Given the description of an element on the screen output the (x, y) to click on. 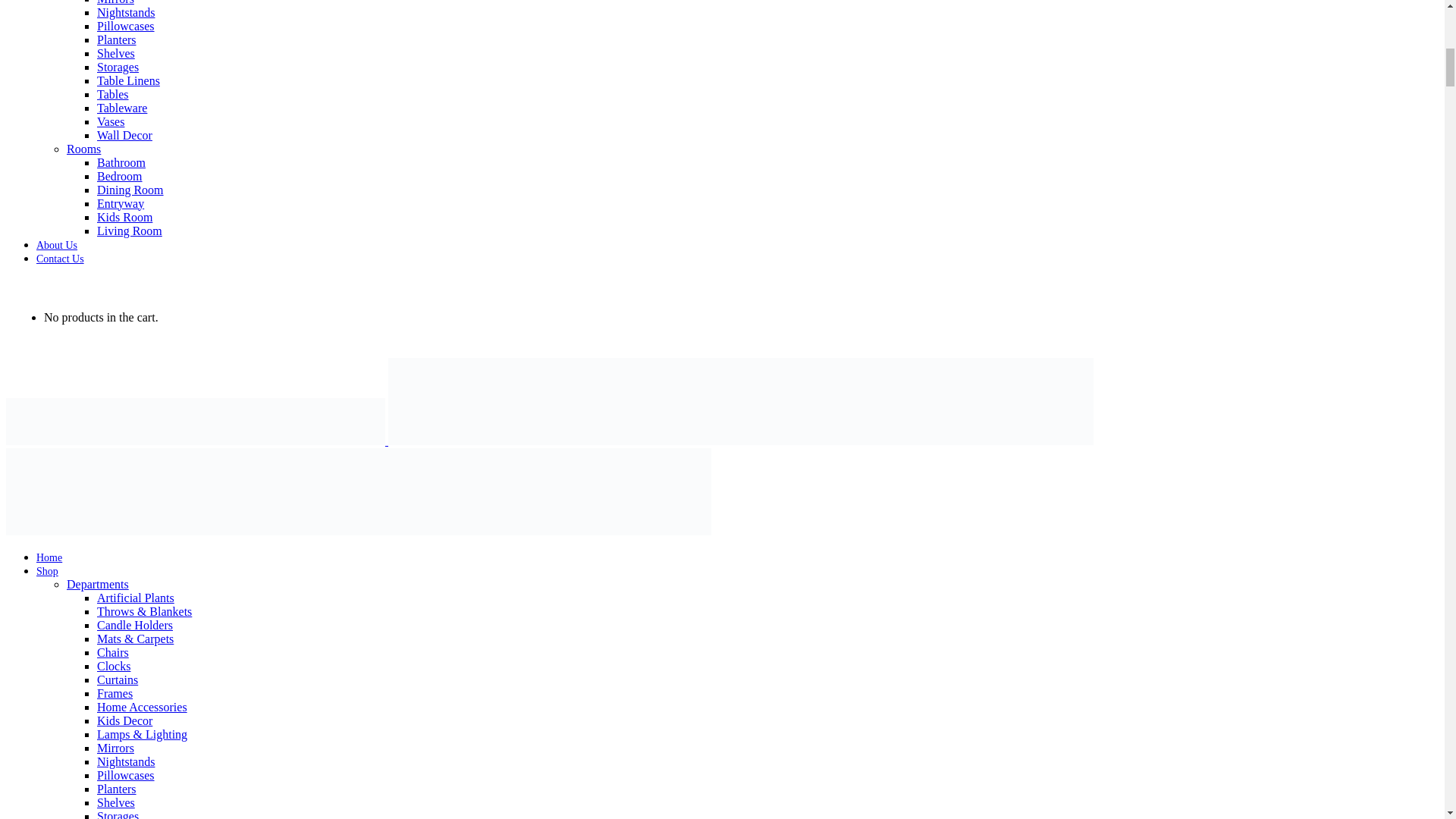
Tableware (122, 107)
Vases (110, 121)
Table Linens (128, 80)
Planters (116, 39)
Tables (113, 93)
Shelves (116, 52)
Pillowcases (125, 25)
Wall Decor (124, 134)
Storages (117, 66)
Mirrors (115, 2)
